Given the description of an element on the screen output the (x, y) to click on. 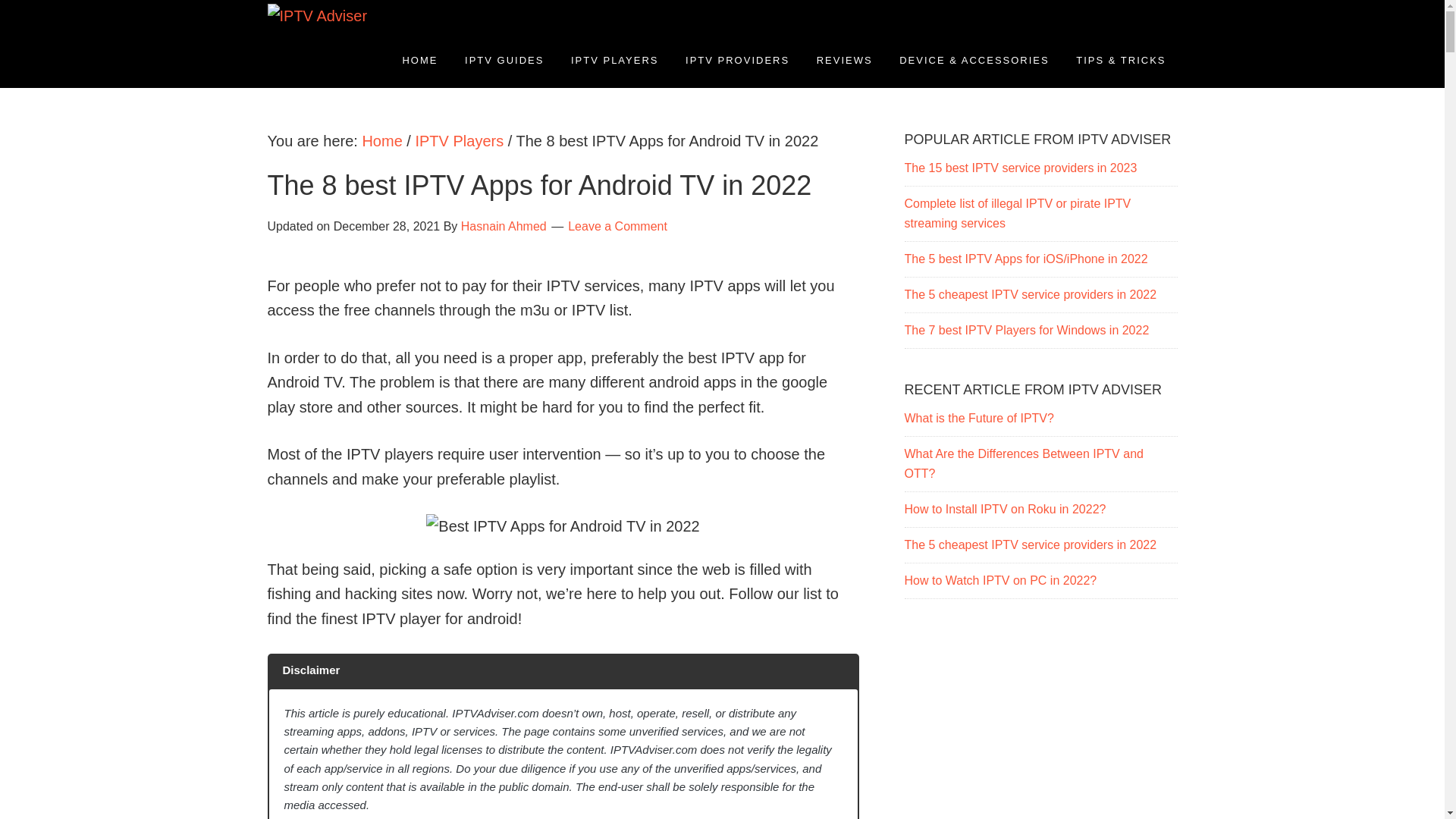
IPTV PROVIDERS (737, 60)
IPTV GUIDES (503, 60)
Home (381, 140)
Hasnain Ahmed (504, 226)
REVIEWS (844, 60)
IPTV PLAYERS (614, 60)
IPTV Players (458, 140)
Leave a Comment (616, 226)
IPTV Adviser (296, 46)
HOME (419, 60)
